Given the description of an element on the screen output the (x, y) to click on. 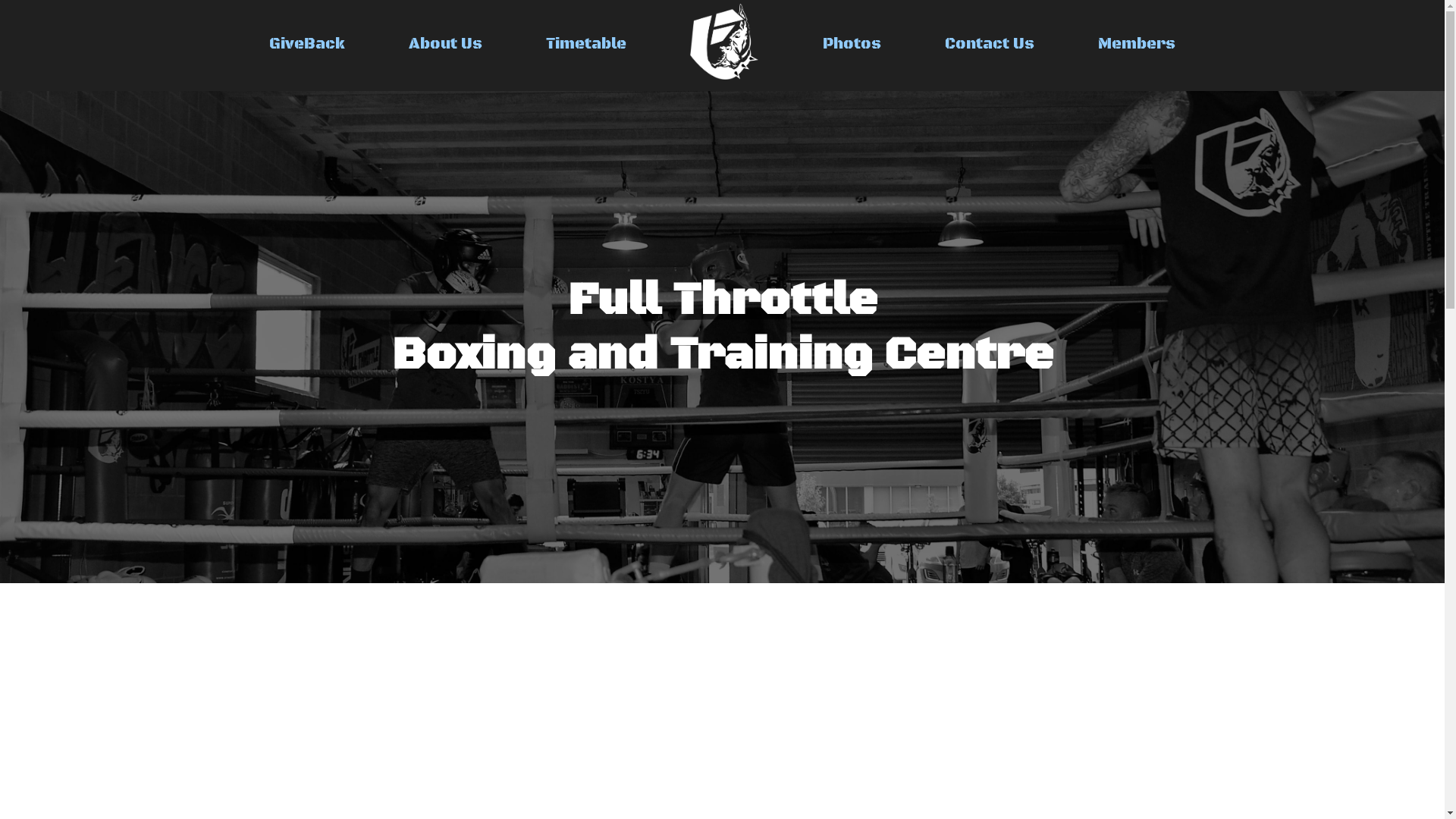
Brand Element type: text (724, 41)
Contact Us Element type: text (989, 43)
Timetable Element type: text (586, 43)
About Us Element type: text (445, 43)
Members Element type: text (1136, 43)
GiveBack Element type: text (307, 43)
Photos Element type: text (851, 43)
